Given the description of an element on the screen output the (x, y) to click on. 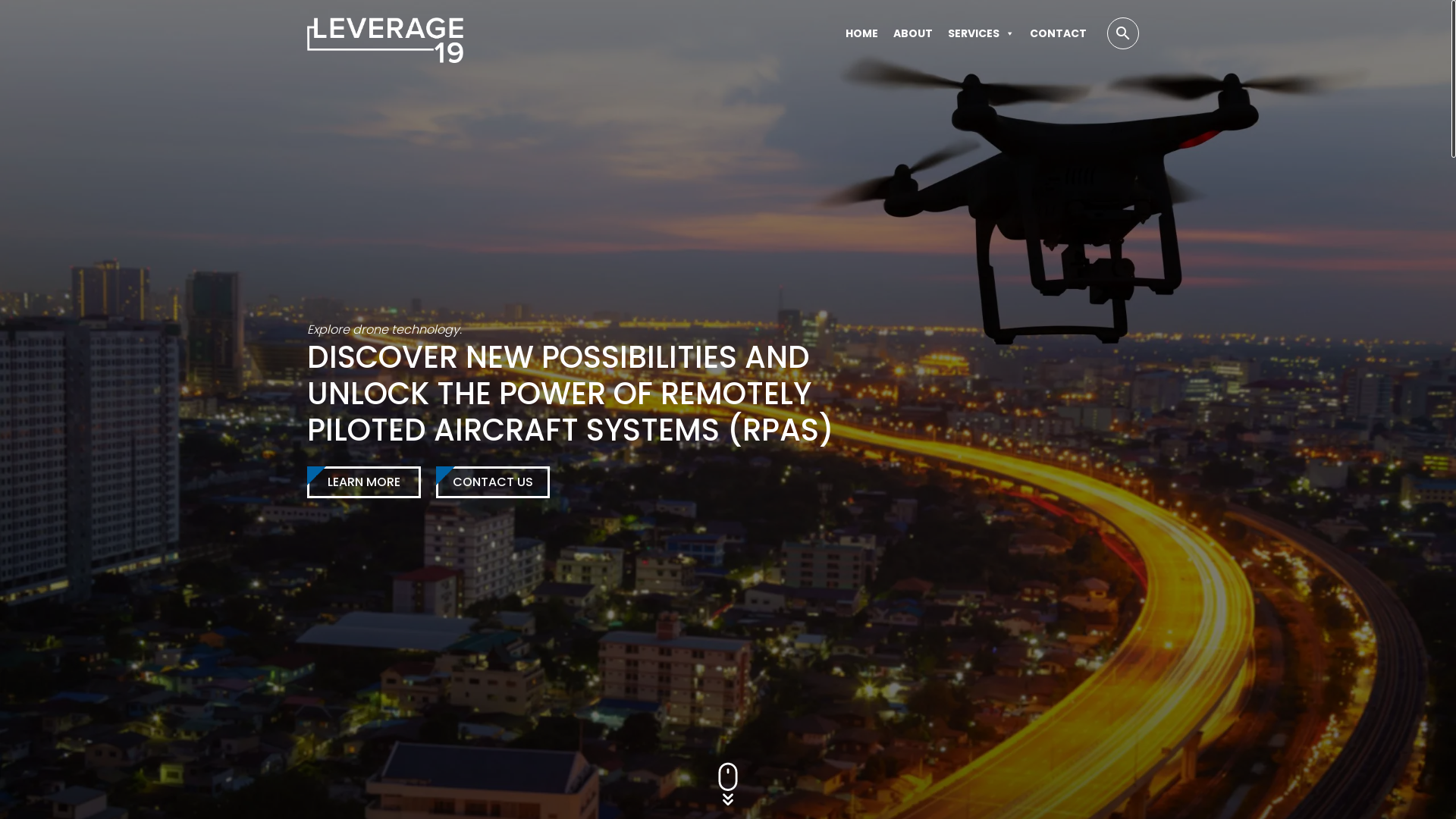
CONTACT US Element type: text (492, 482)
ABOUT Element type: text (912, 33)
Leverage 19 Element type: hover (385, 39)
SERVICES Element type: text (981, 33)
CONTACT Element type: text (1058, 33)
HOME Element type: text (861, 33)
Search Element type: text (56, 15)
Leverage 19 - Explore Drone Technology Element type: hover (385, 33)
LEARN MORE Element type: text (363, 482)
